Given the description of an element on the screen output the (x, y) to click on. 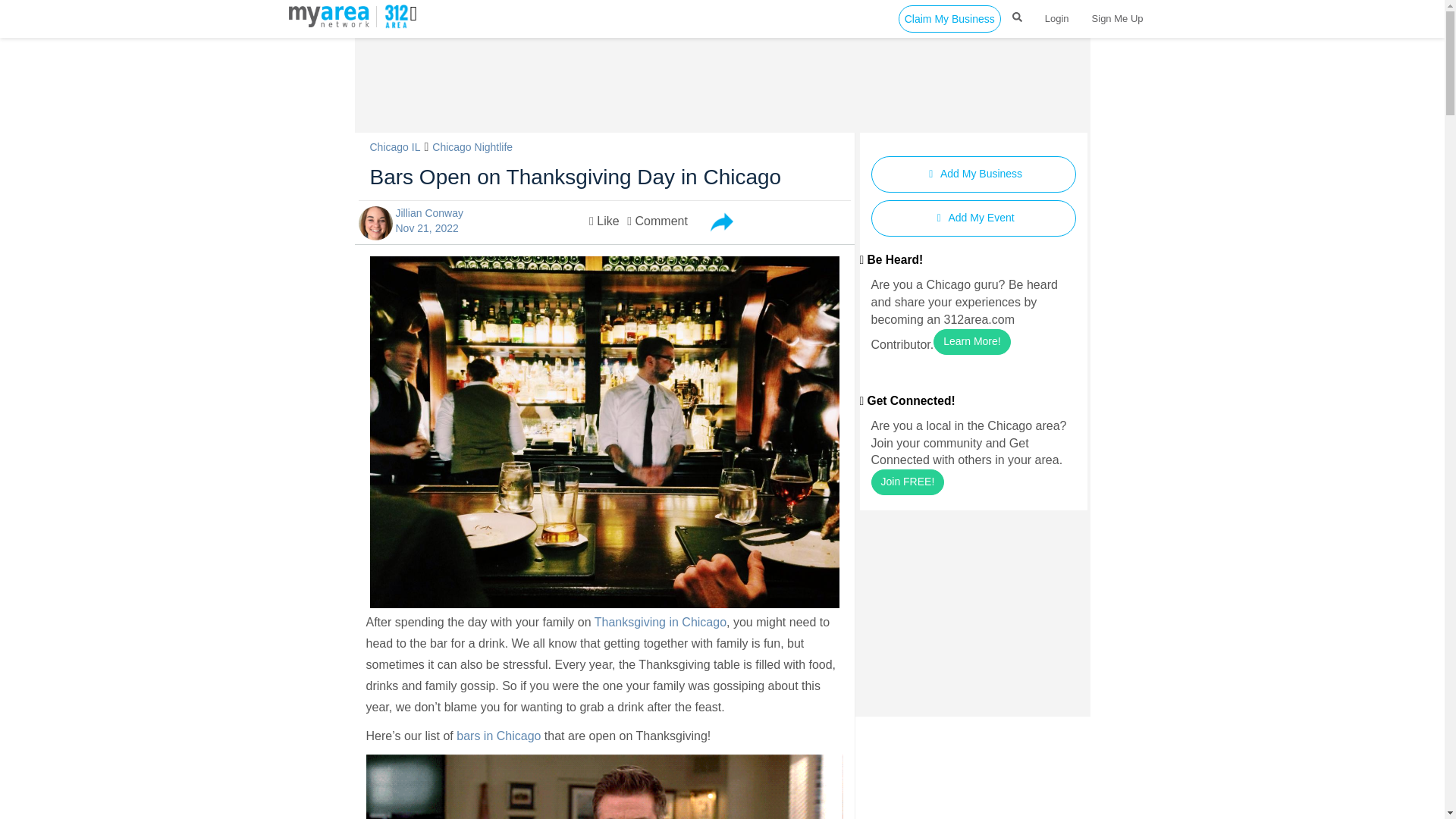
Claim My Business (949, 18)
Claim My Business (949, 18)
Sign Me Up (1117, 18)
Login (1056, 18)
Learn More! (971, 341)
Sign Me Up (1117, 18)
Add Events (972, 217)
Chicago IL (394, 146)
Join FREE! (906, 482)
Add My Event (972, 217)
Add My Business (972, 174)
Add My Business (972, 174)
Login (1056, 18)
Learn More! (971, 341)
